Given the description of an element on the screen output the (x, y) to click on. 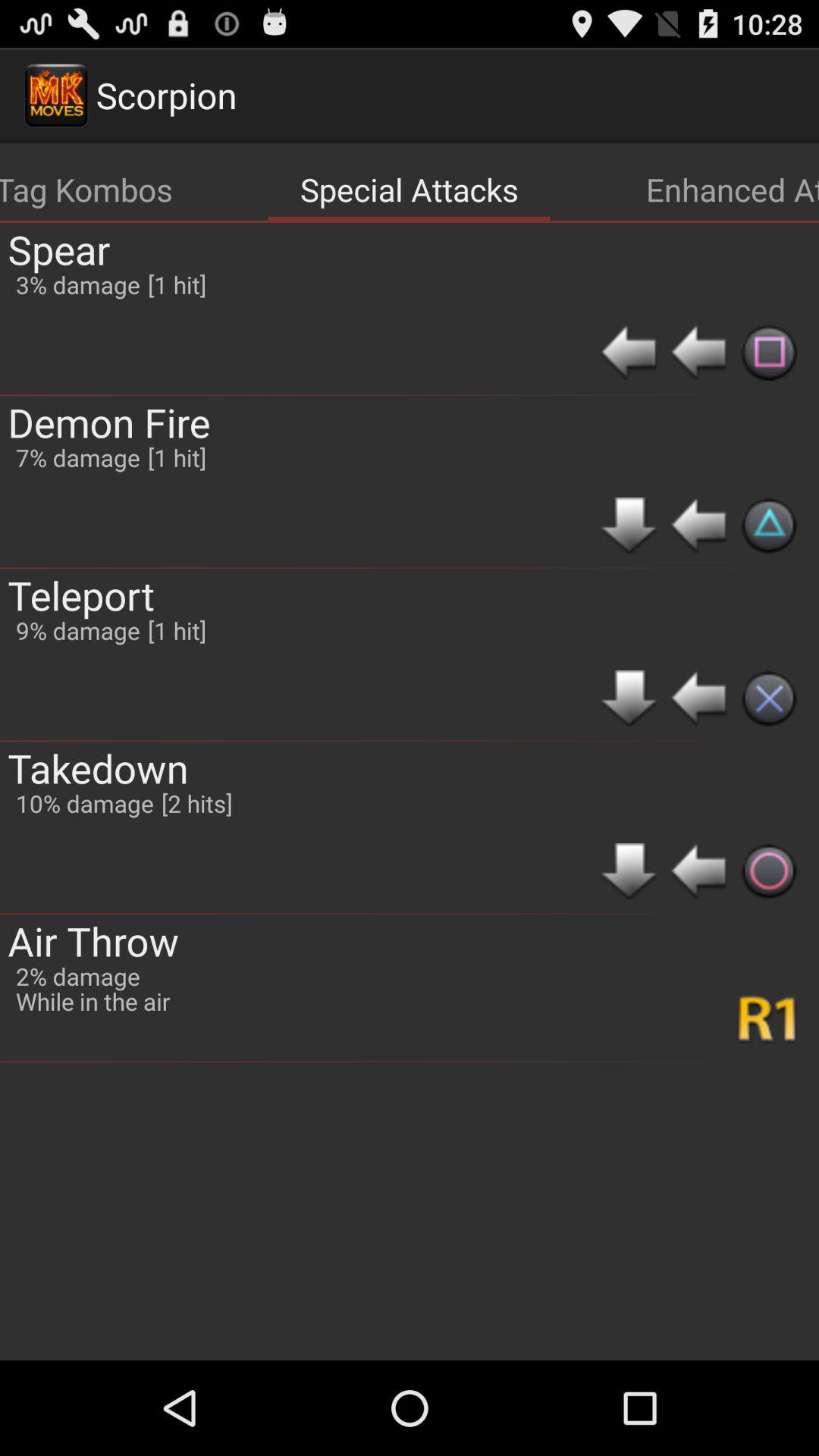
swipe to the teleport (80, 594)
